Given the description of an element on the screen output the (x, y) to click on. 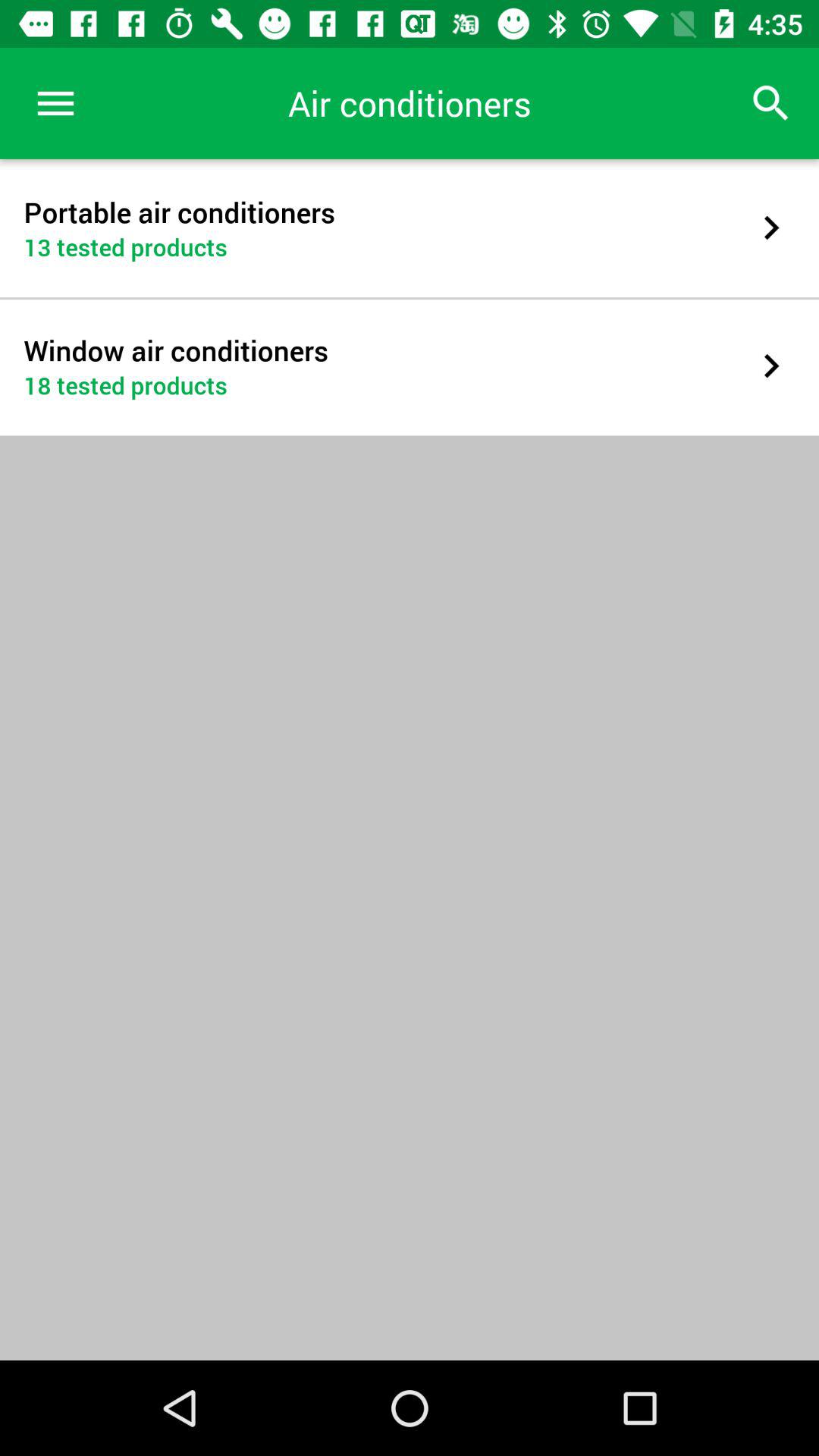
turn off item to the right of the air conditioners item (771, 103)
